Given the description of an element on the screen output the (x, y) to click on. 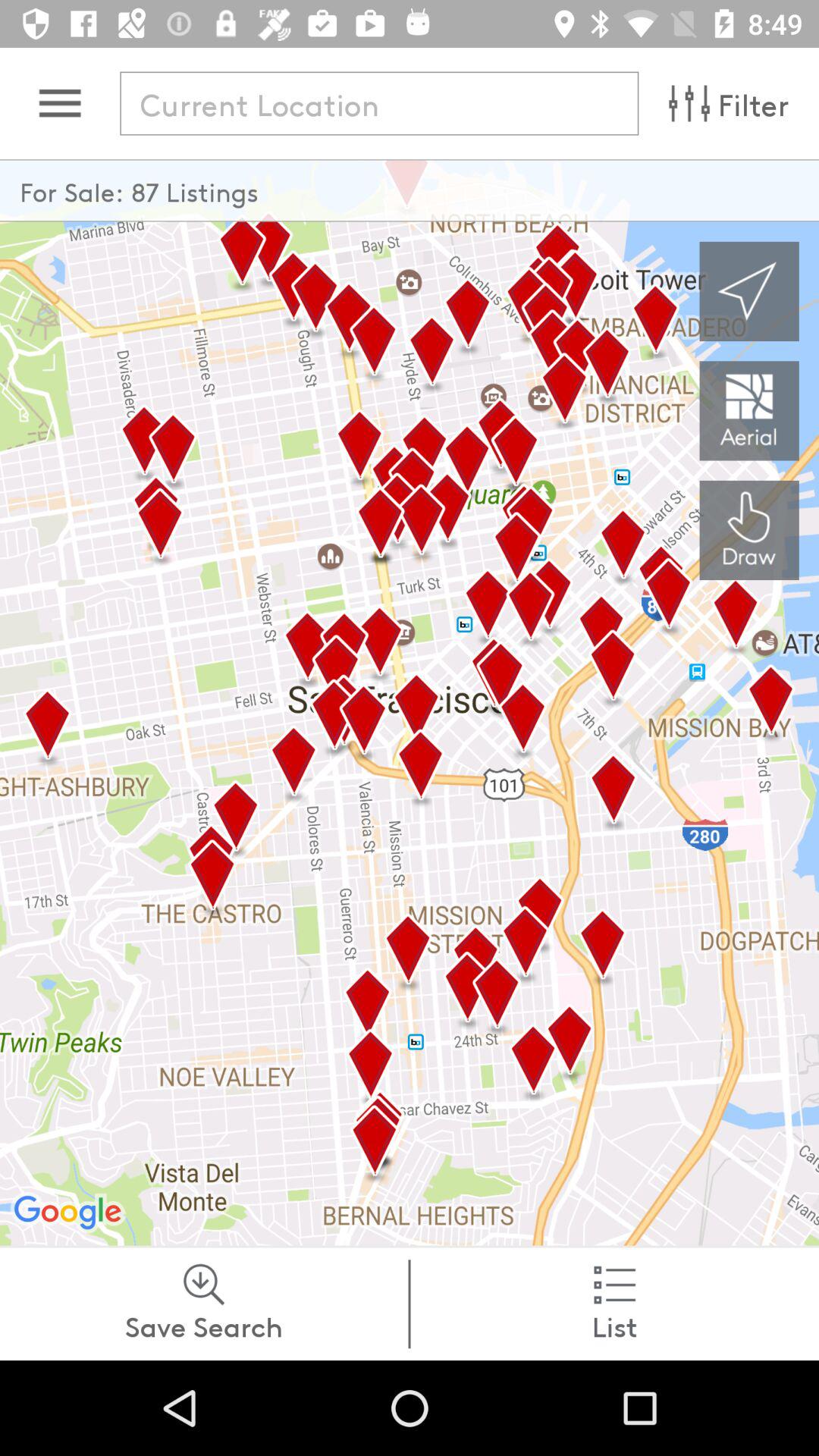
choose the icon at the center (409, 702)
